Given the description of an element on the screen output the (x, y) to click on. 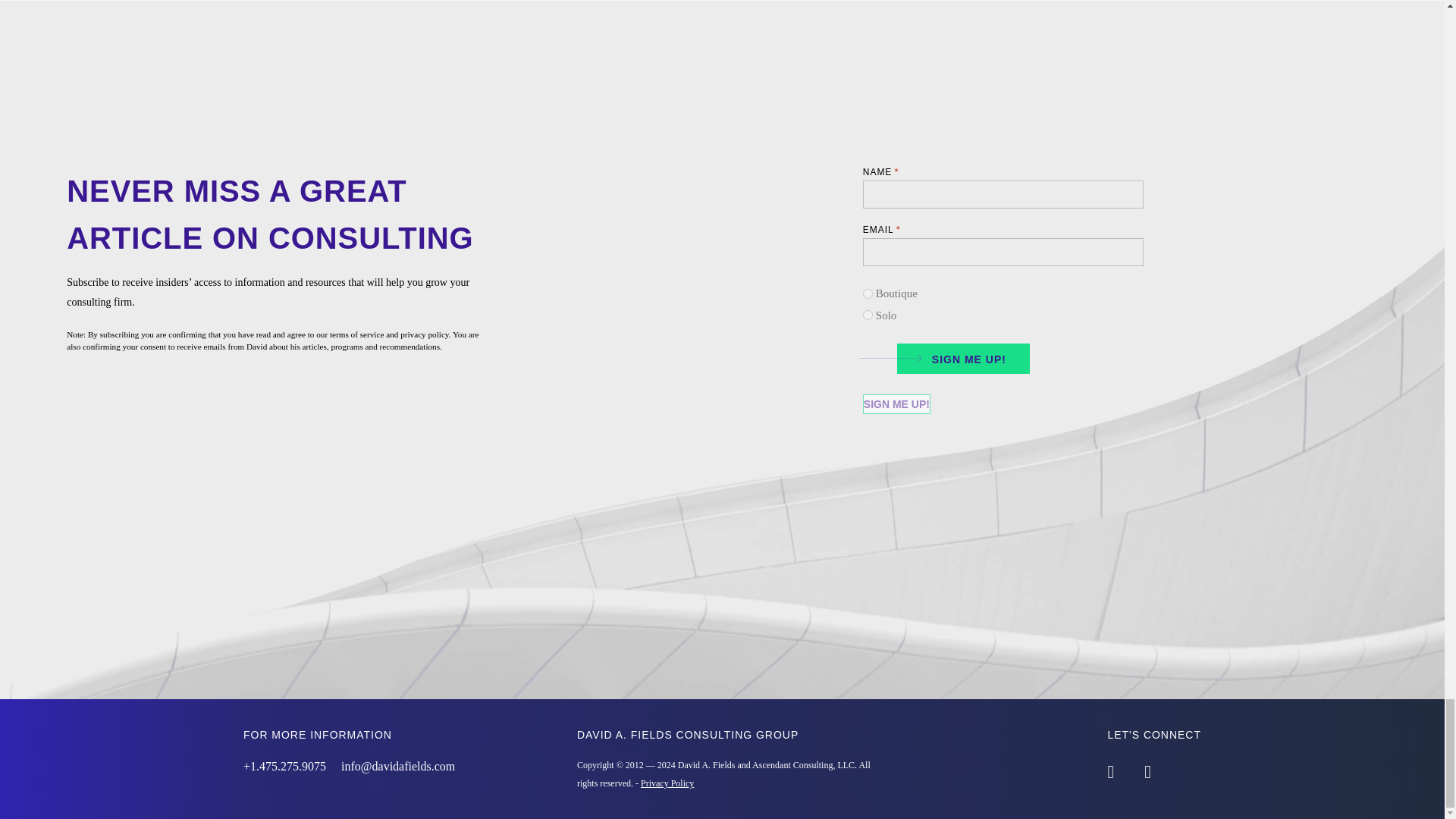
Privacy Policy (667, 783)
Solo (867, 315)
Boutique (867, 293)
Sign Me Up! (896, 403)
DAVID A. FIELDS CONSULTING GROUP (686, 734)
SIGN ME UP! (957, 357)
Sign Me Up! (896, 403)
